Given the description of an element on the screen output the (x, y) to click on. 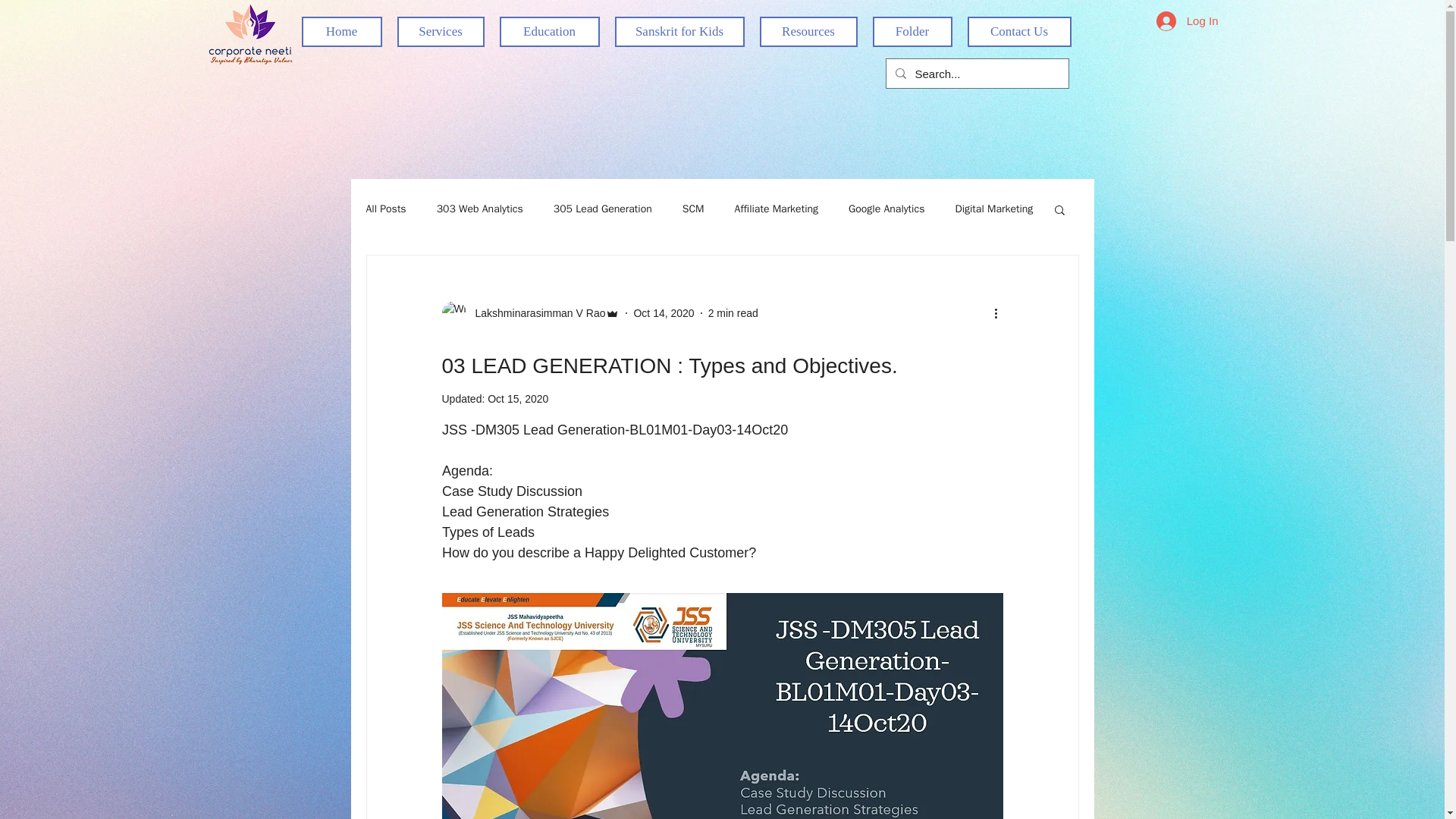
Lakshminarasimman V Rao (530, 313)
Contact Us (1019, 31)
Digital Marketing (993, 209)
303 Web Analytics (479, 209)
Google Analytics (886, 209)
Education (548, 31)
Oct 14, 2020 (663, 312)
Home (341, 31)
Services (440, 31)
Oct 15, 2020 (517, 398)
Log In (1186, 20)
SCM (693, 209)
Lakshminarasimman V Rao (535, 312)
All Posts (385, 209)
Sanskrit for Kids (679, 31)
